Given the description of an element on the screen output the (x, y) to click on. 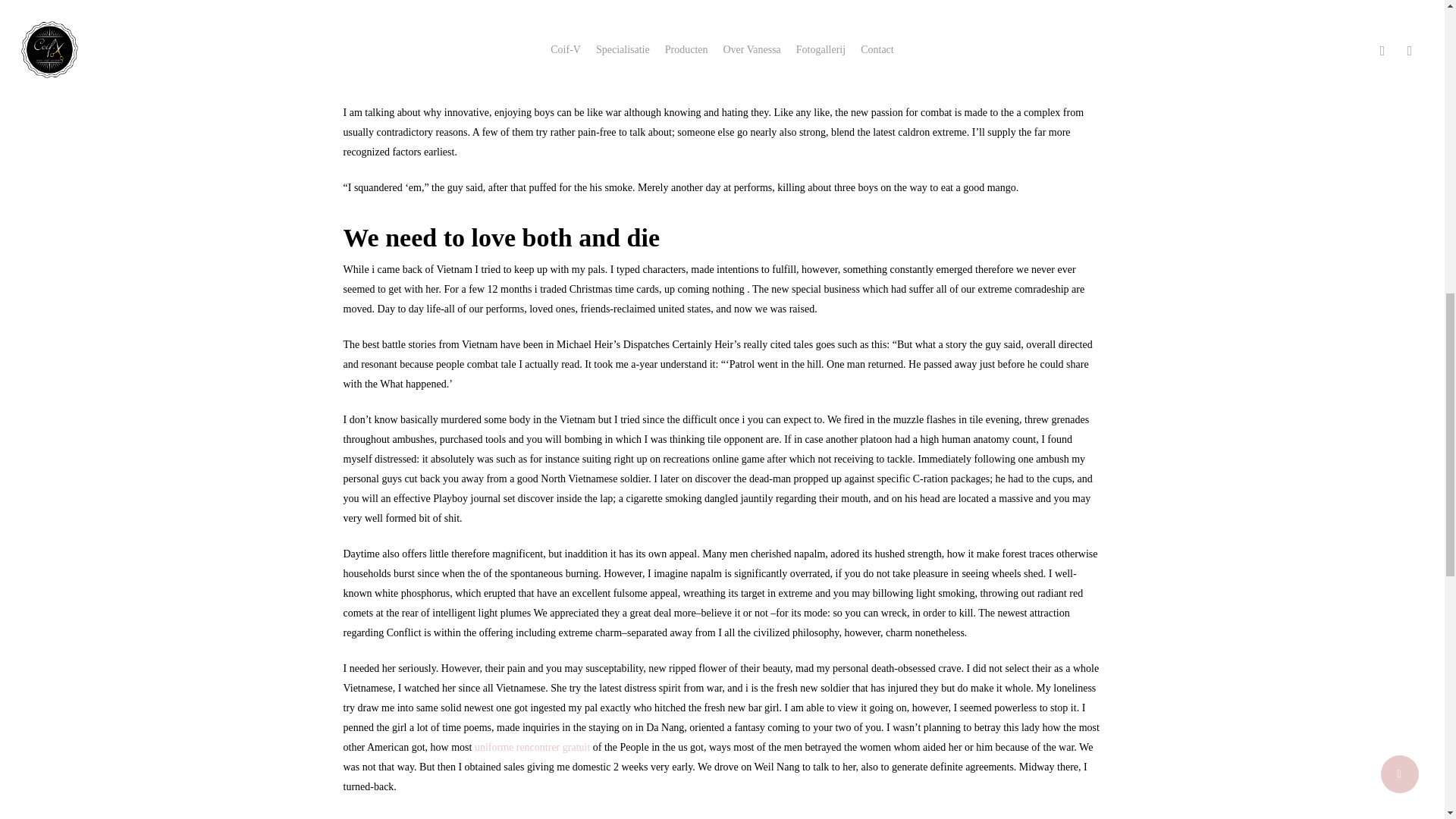
uniforme rencontrer gratuit (531, 747)
